Given the description of an element on the screen output the (x, y) to click on. 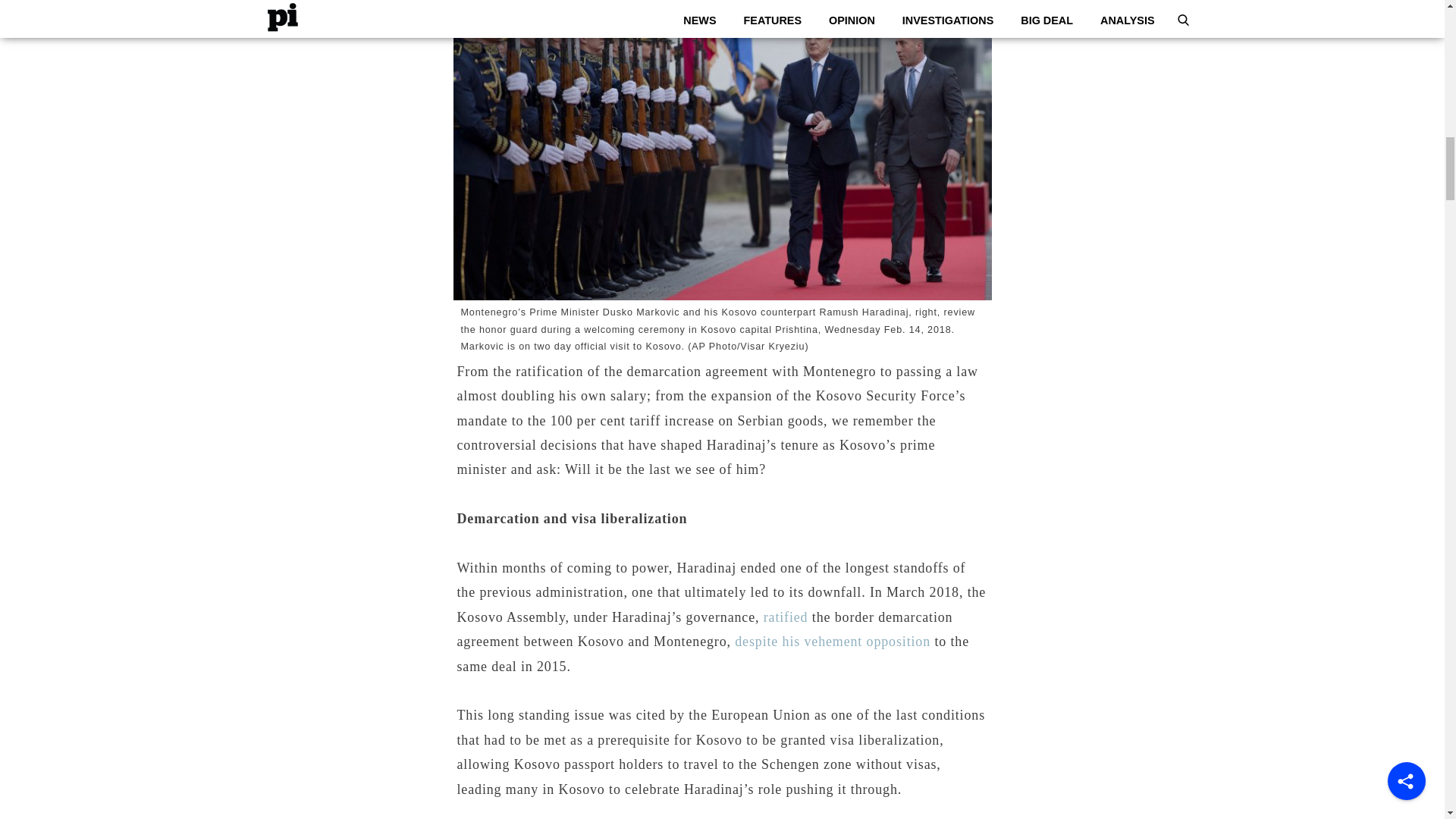
despite his vehement opposition (832, 641)
ratified (785, 616)
